Given the description of an element on the screen output the (x, y) to click on. 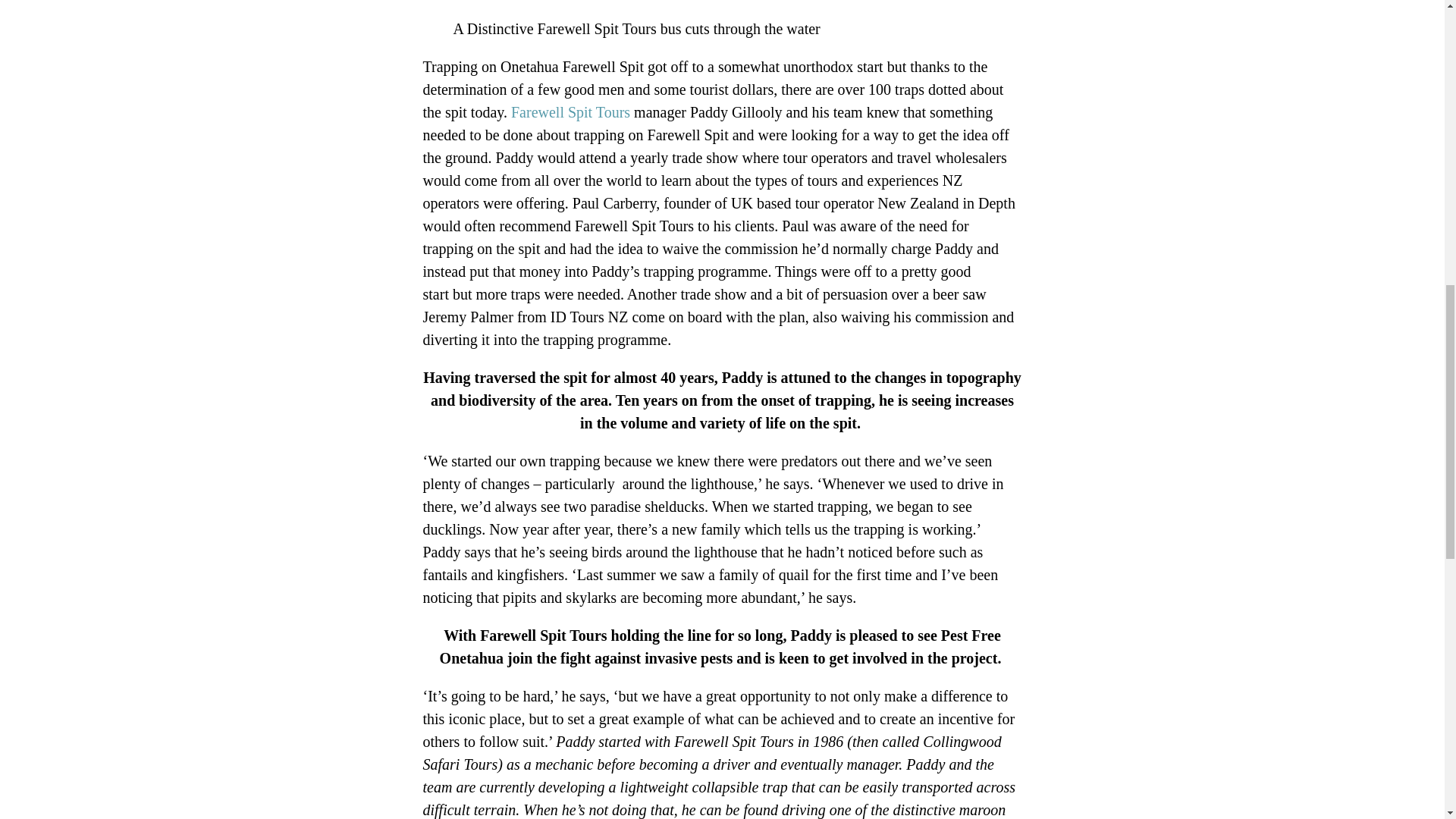
Farewell Spit Tours (570, 112)
